Given the description of an element on the screen output the (x, y) to click on. 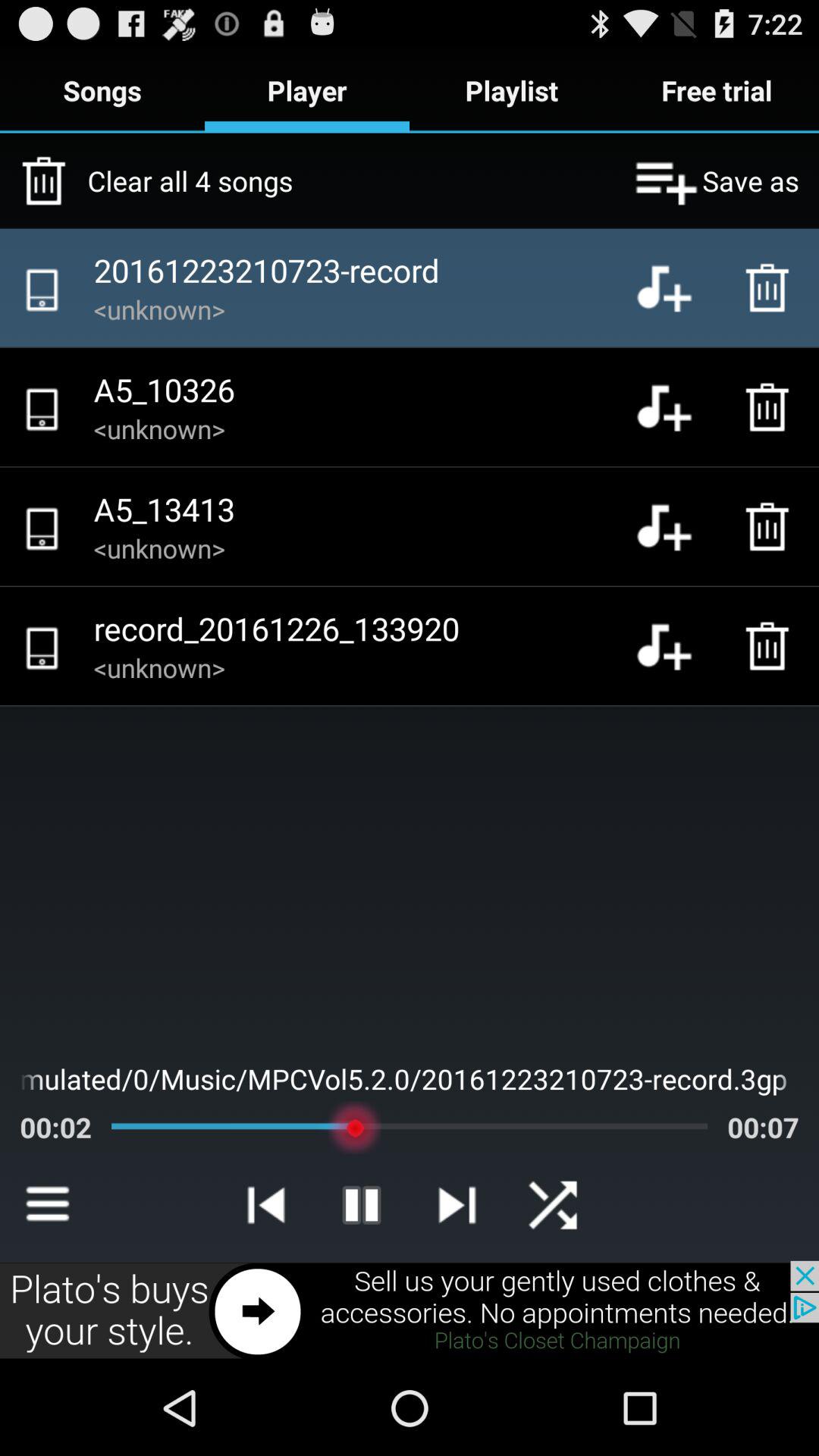
add song (675, 407)
